Given the description of an element on the screen output the (x, y) to click on. 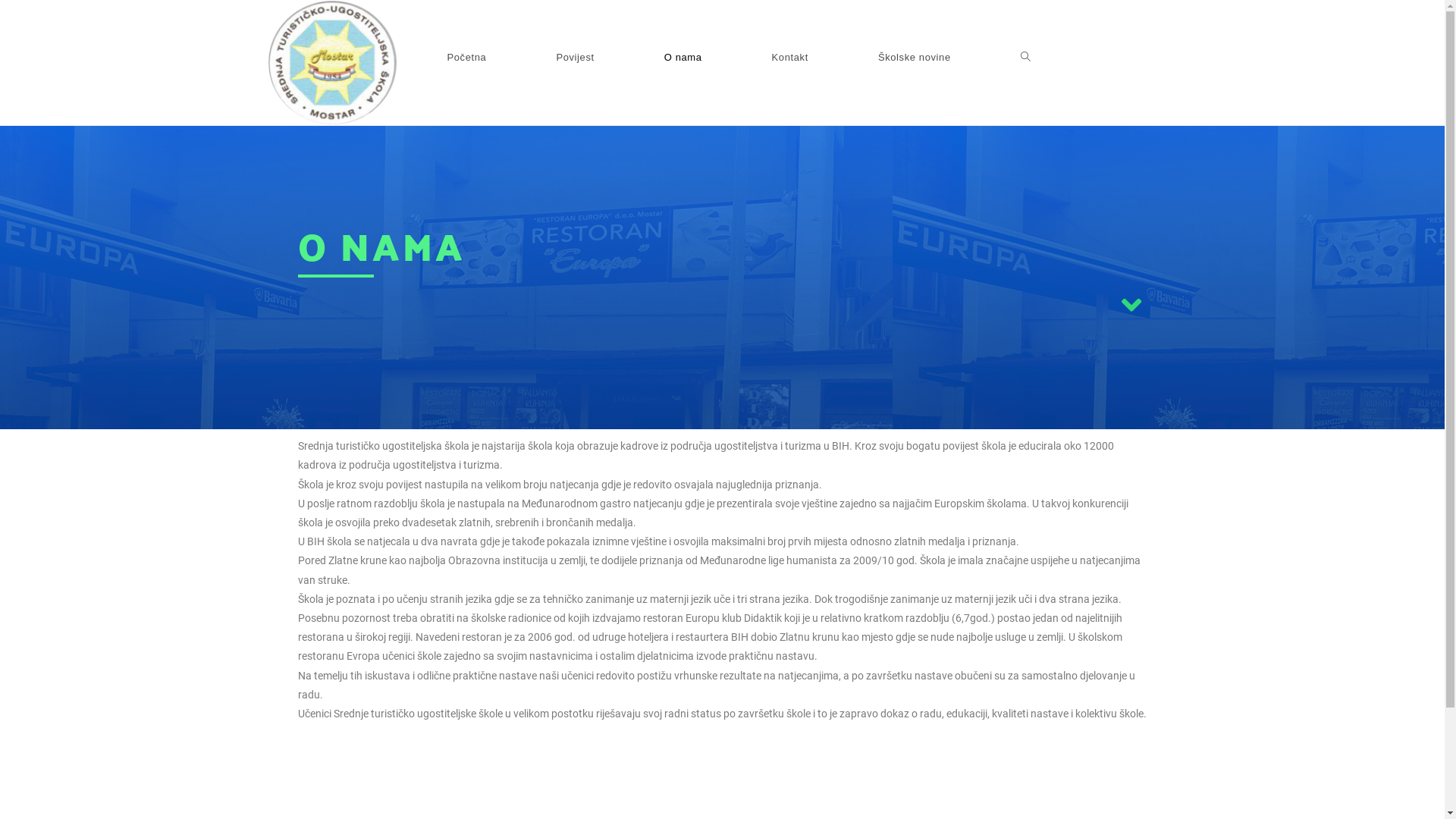
Kontakt Element type: text (790, 57)
O nama Element type: text (683, 57)
Povijest Element type: text (574, 57)
